Given the description of an element on the screen output the (x, y) to click on. 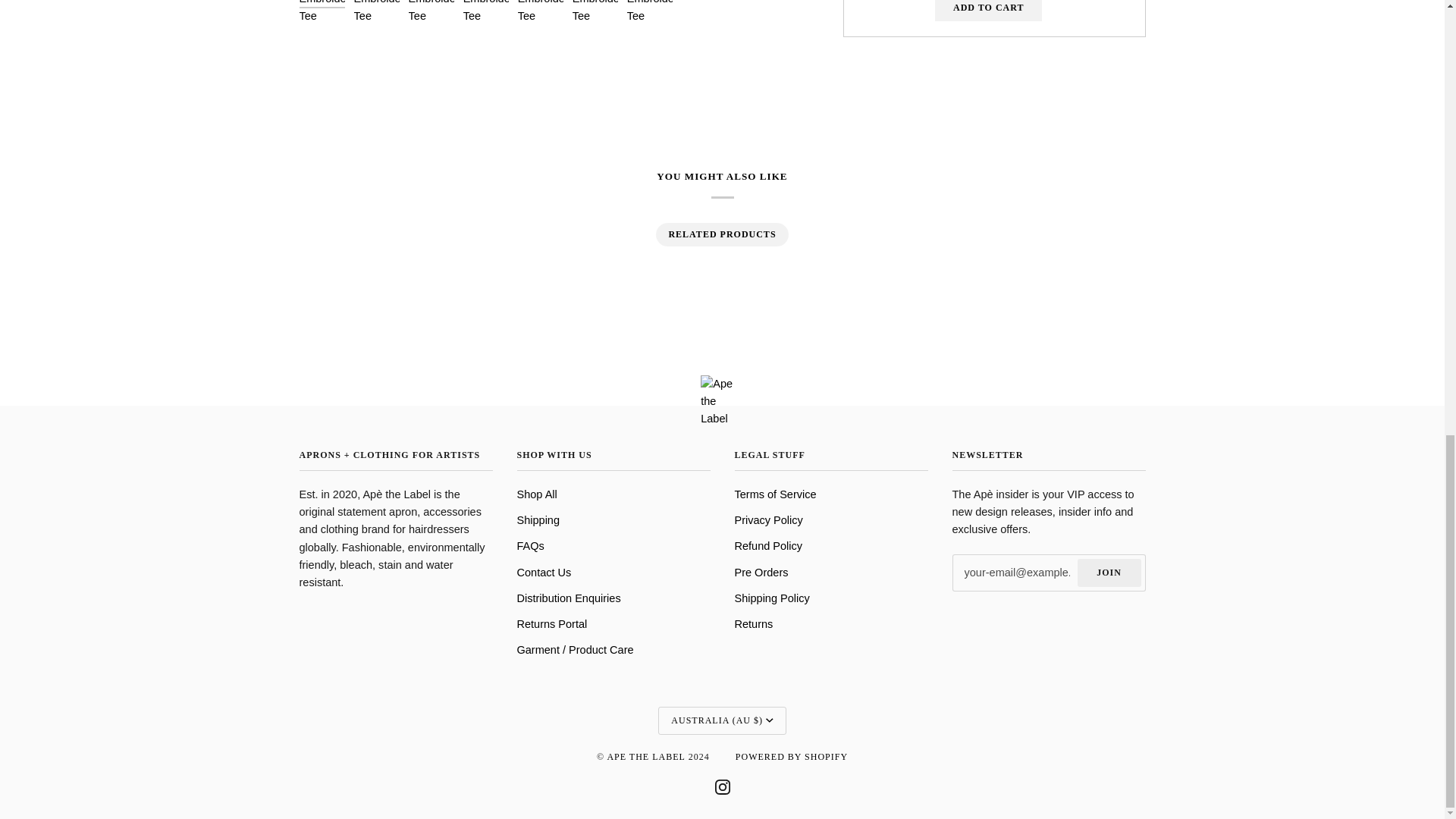
Instagram (721, 786)
RELATED PRODUCTS (721, 234)
